Given the description of an element on the screen output the (x, y) to click on. 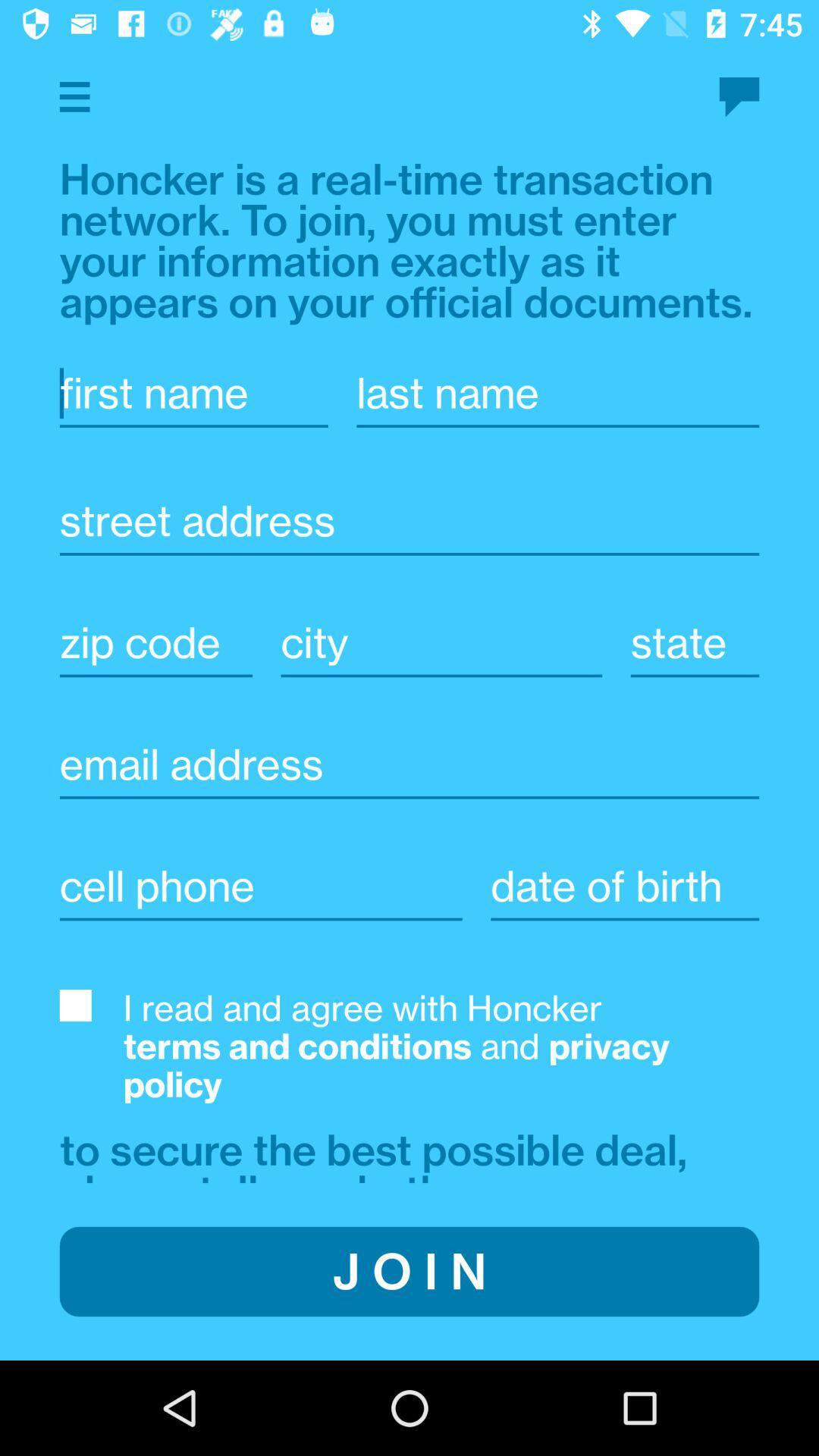
input first name (193, 392)
